Given the description of an element on the screen output the (x, y) to click on. 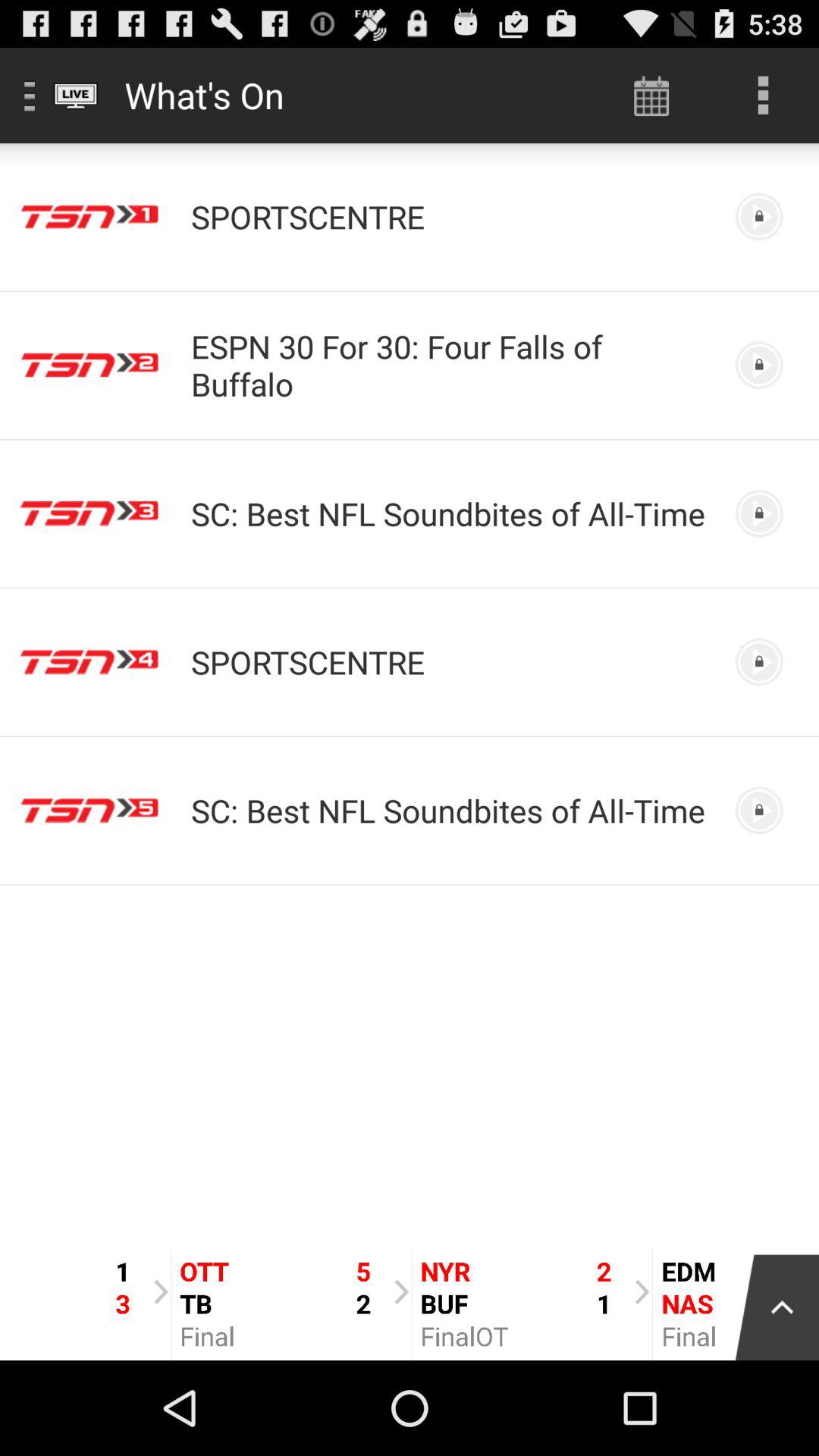
choose the item below sportscentre app (450, 364)
